Given the description of an element on the screen output the (x, y) to click on. 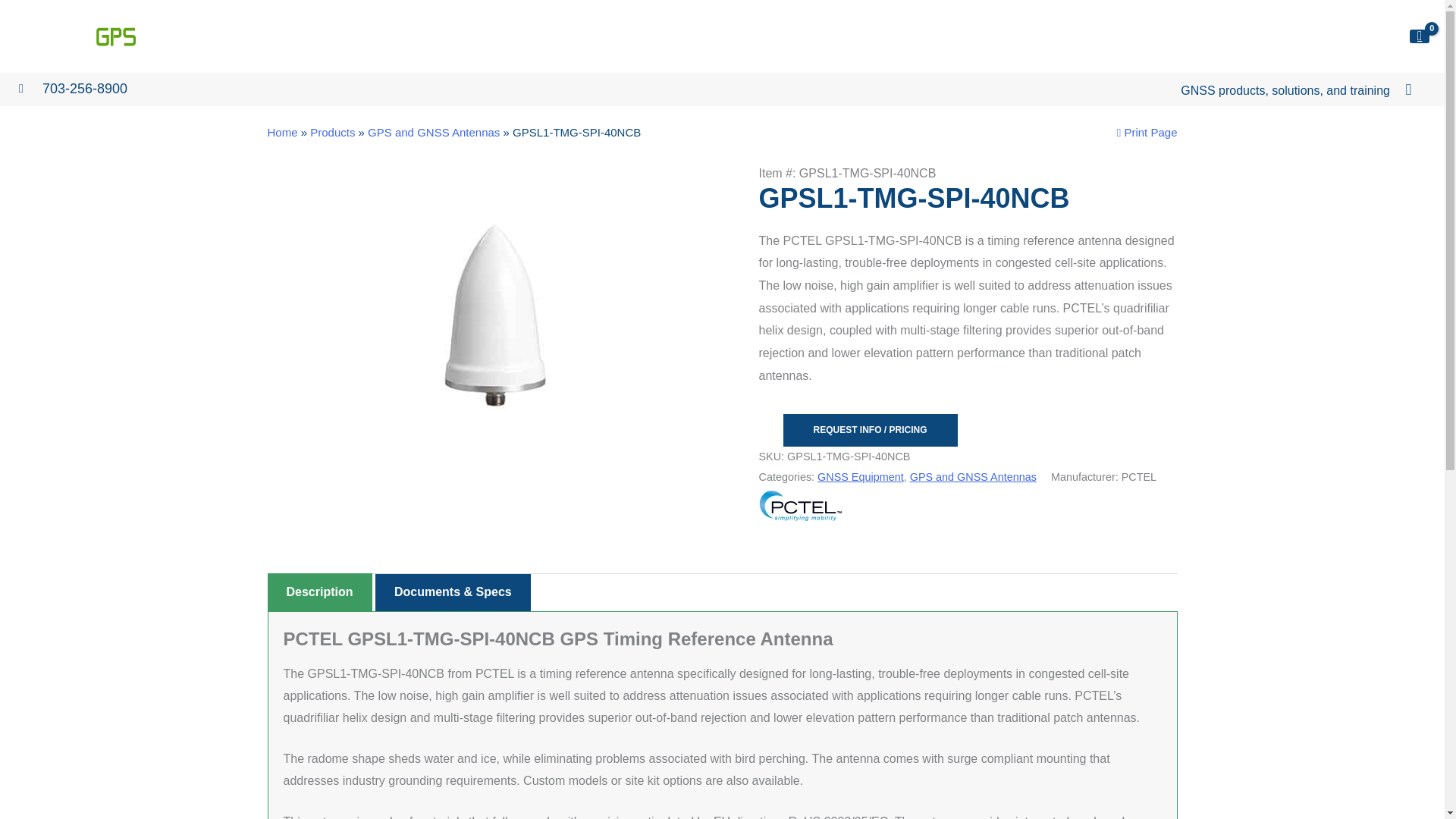
MANUFACTURERS (902, 36)
PRODUCTS (797, 36)
print test (1146, 132)
